Given the description of an element on the screen output the (x, y) to click on. 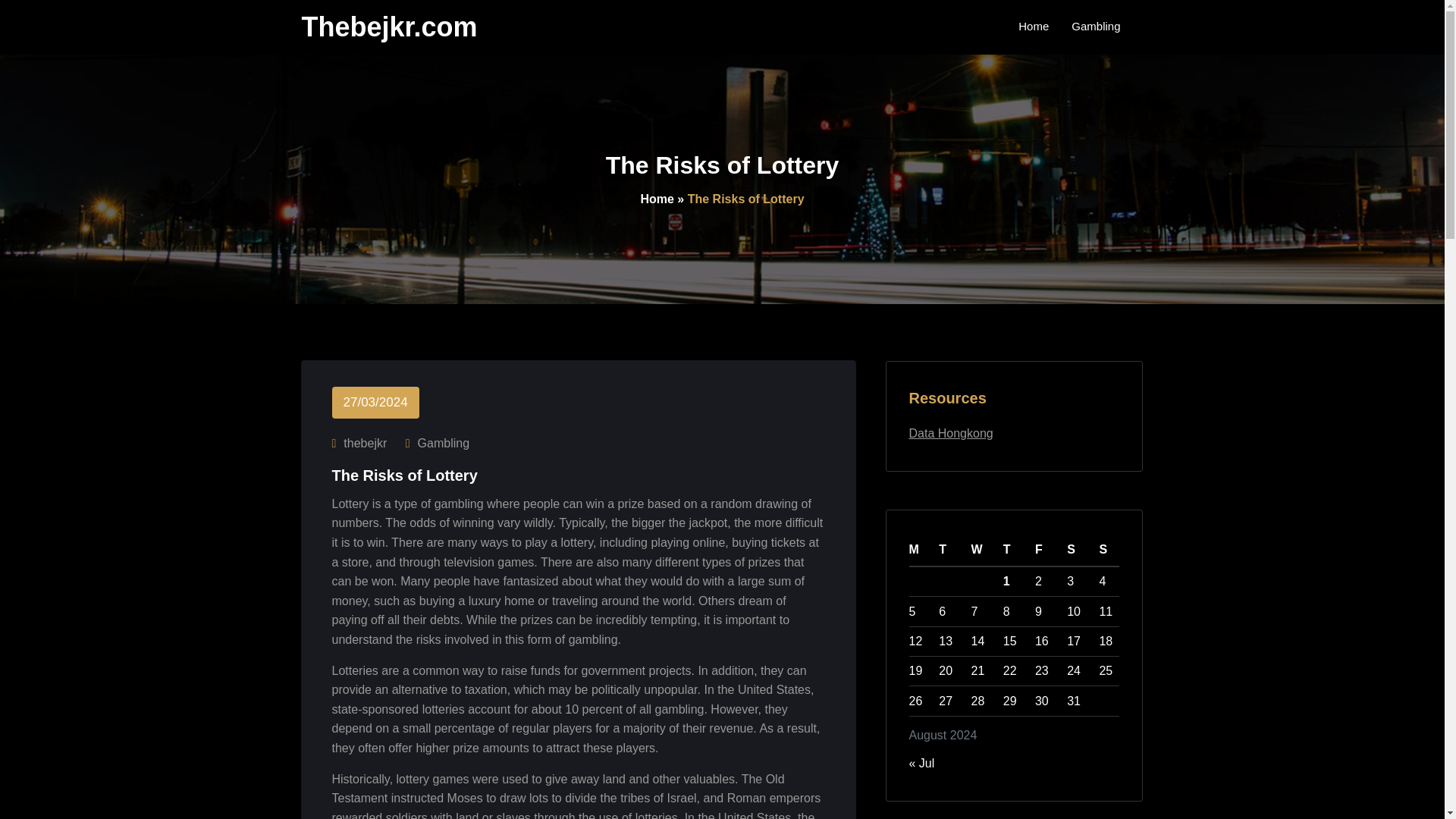
Gambling (1095, 26)
Thursday (1013, 550)
Friday (1046, 550)
Gambling (442, 443)
Wednesday (981, 550)
Home (656, 198)
Tuesday (950, 550)
thebejkr (367, 443)
Thebejkr.com (389, 26)
Data Hongkong (950, 432)
Saturday (1078, 550)
